Given the description of an element on the screen output the (x, y) to click on. 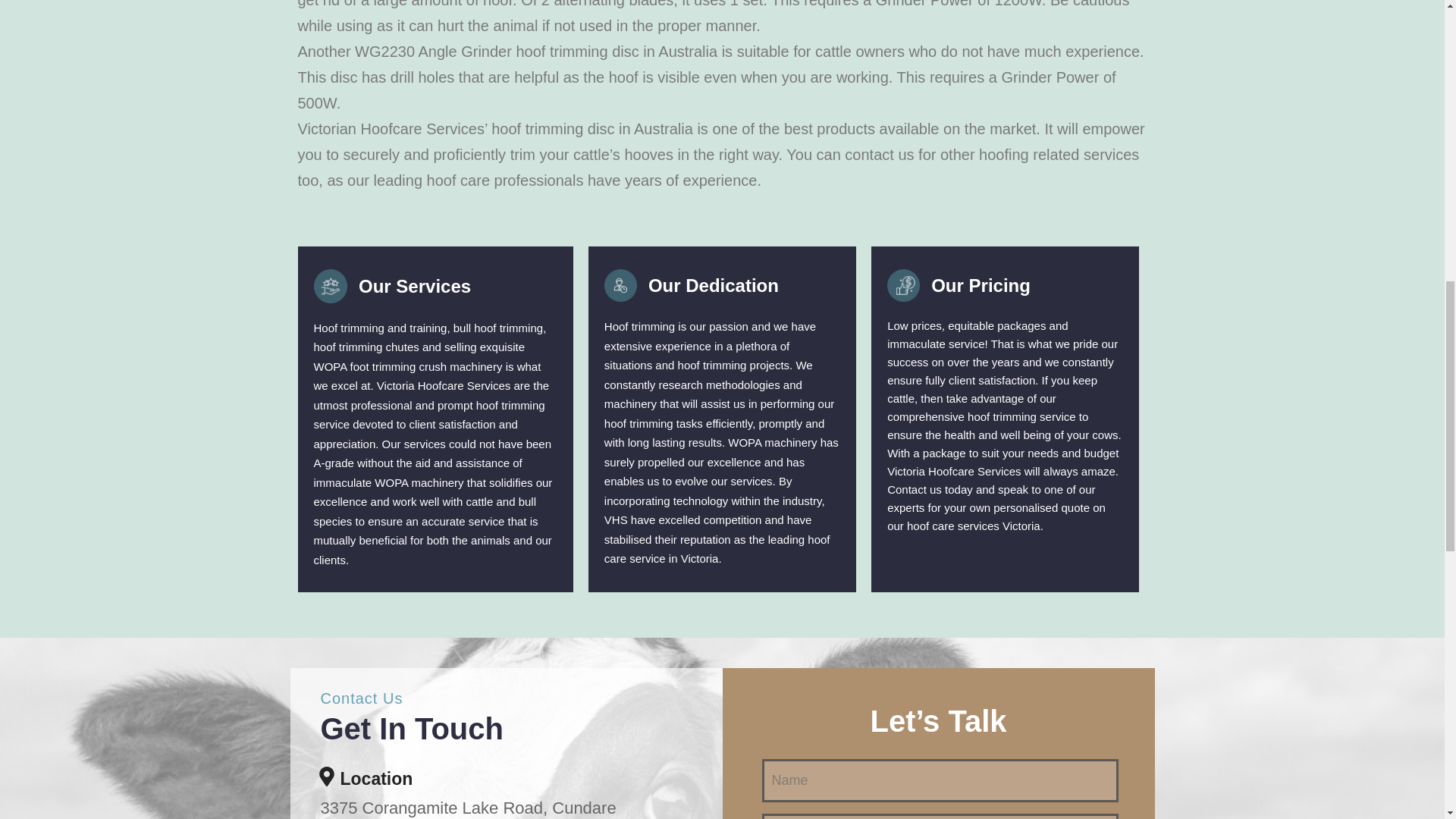
second (330, 286)
third (903, 285)
first (620, 285)
